Given the description of an element on the screen output the (x, y) to click on. 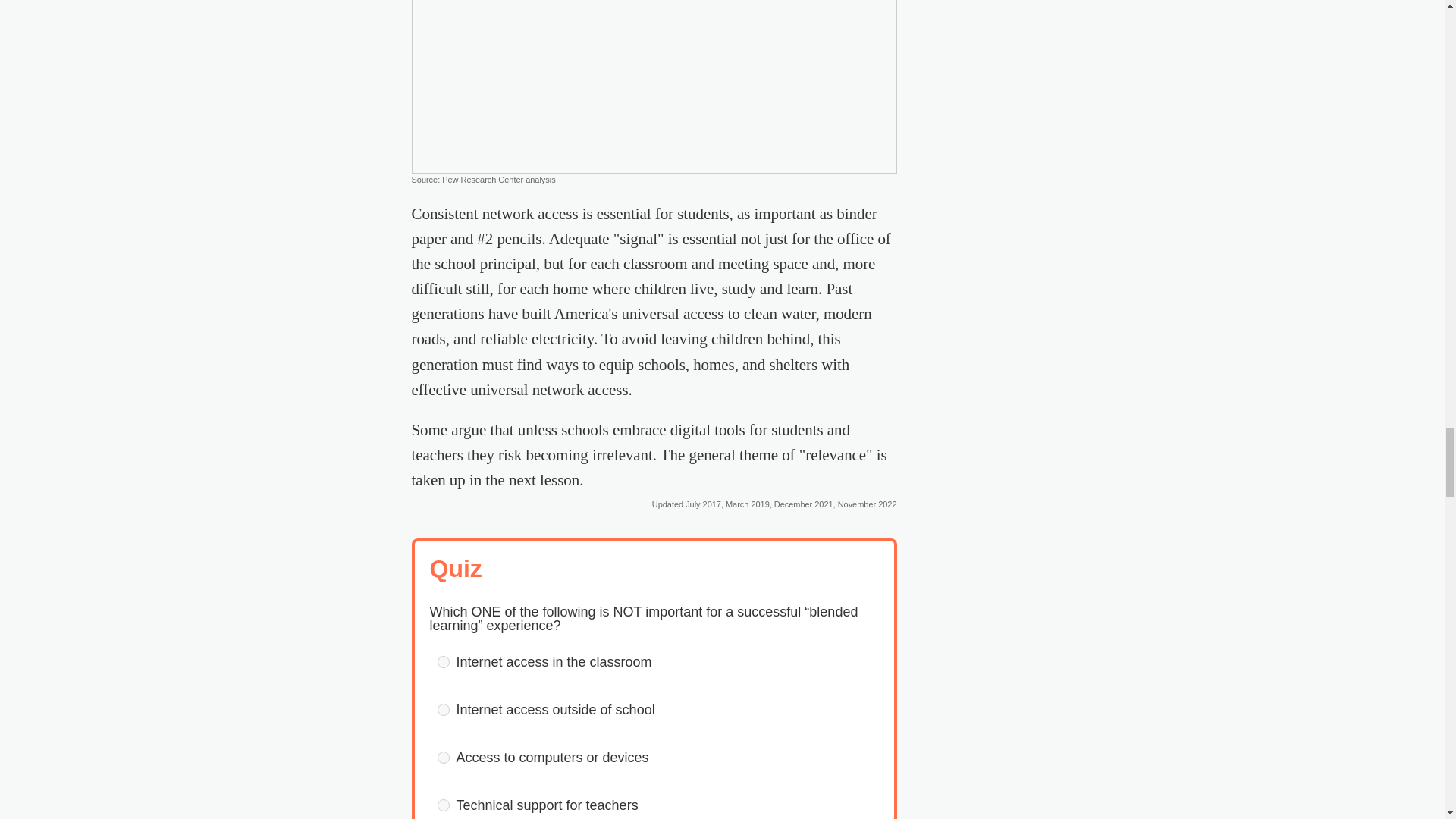
195 (442, 709)
194 (442, 662)
197 (442, 805)
196 (442, 757)
